Given the description of an element on the screen output the (x, y) to click on. 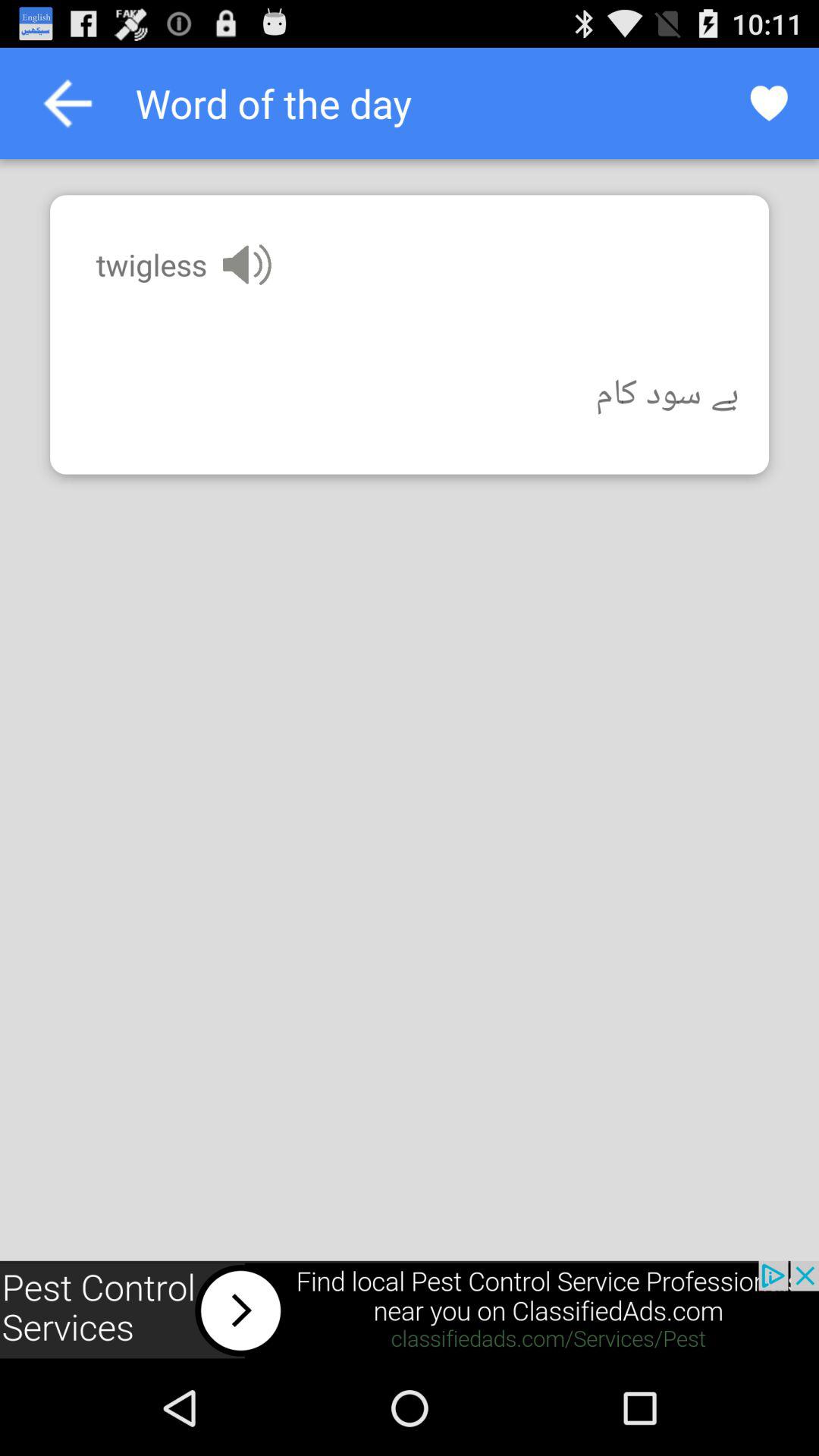
hear how the word is pronounced (246, 264)
